Given the description of an element on the screen output the (x, y) to click on. 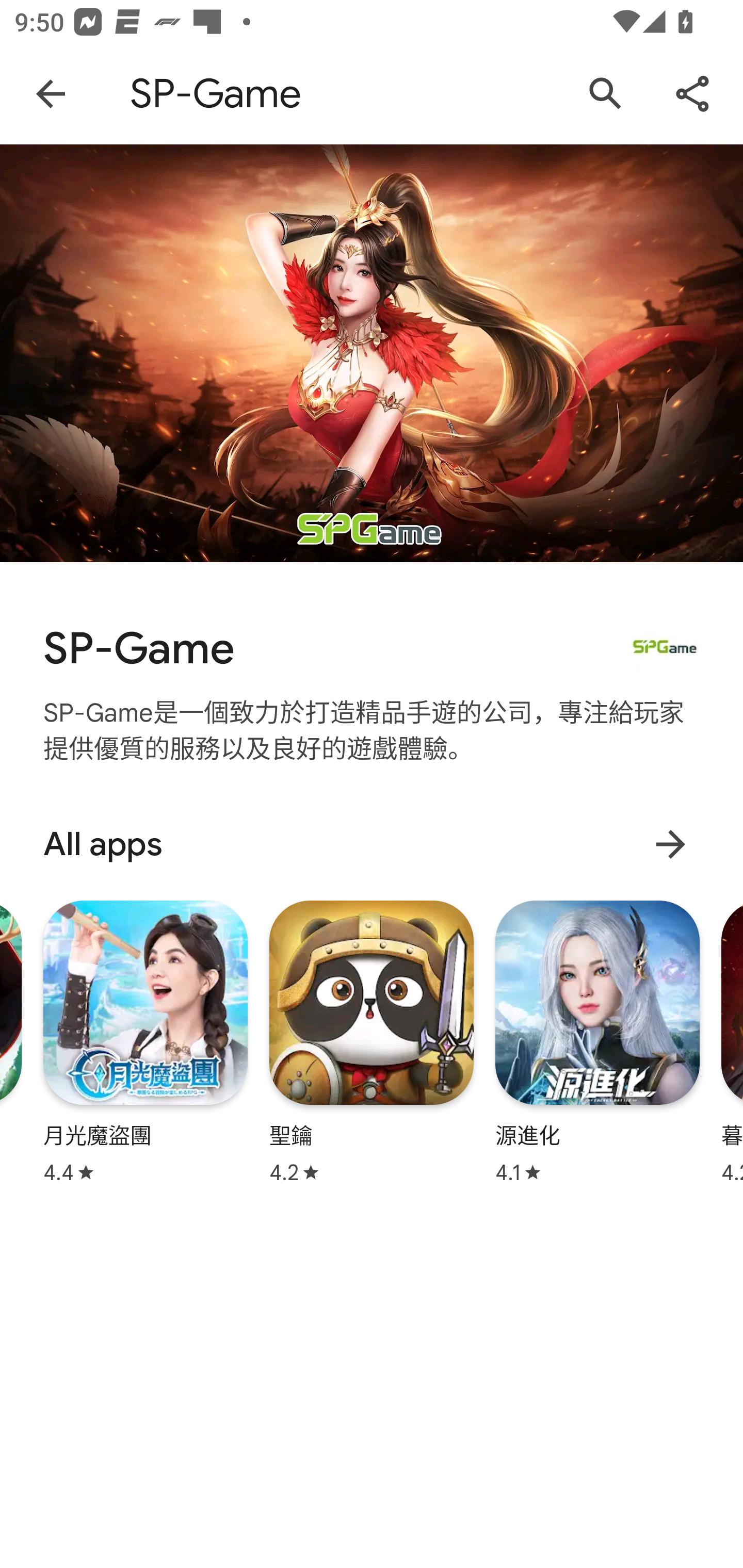
Navigate up (50, 93)
Search Google Play (605, 93)
Share (692, 93)
All apps More results for All apps (371, 844)
More results for All apps (670, 844)
月光魔盜團
Star rating: 4.4
 (145, 1041)
聖鑰
Star rating: 4.2
 (371, 1041)
源進化
Star rating: 4.1
 (597, 1041)
